Given the description of an element on the screen output the (x, y) to click on. 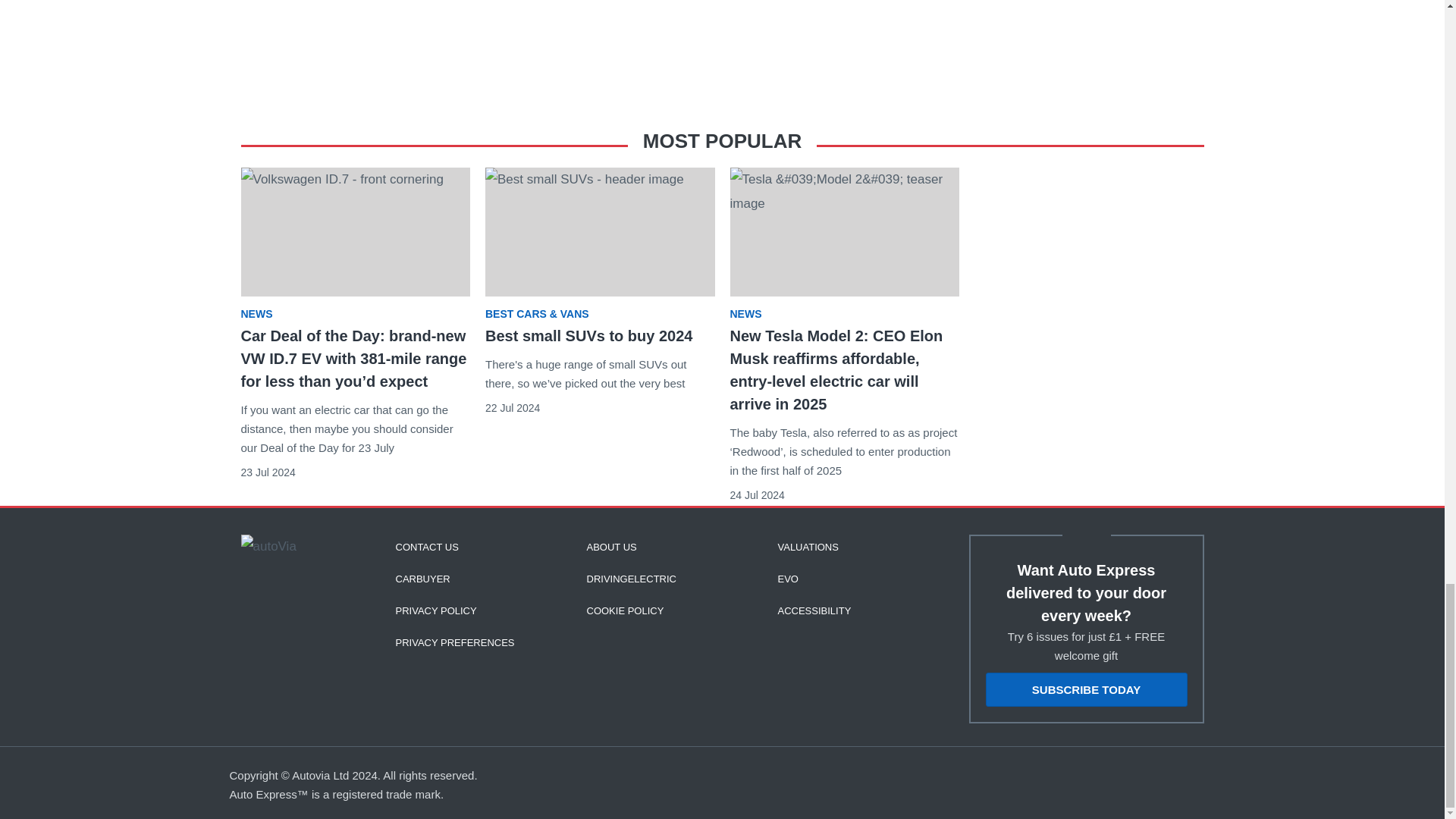
SUBSCRIBE TODAY (1086, 689)
